Given the description of an element on the screen output the (x, y) to click on. 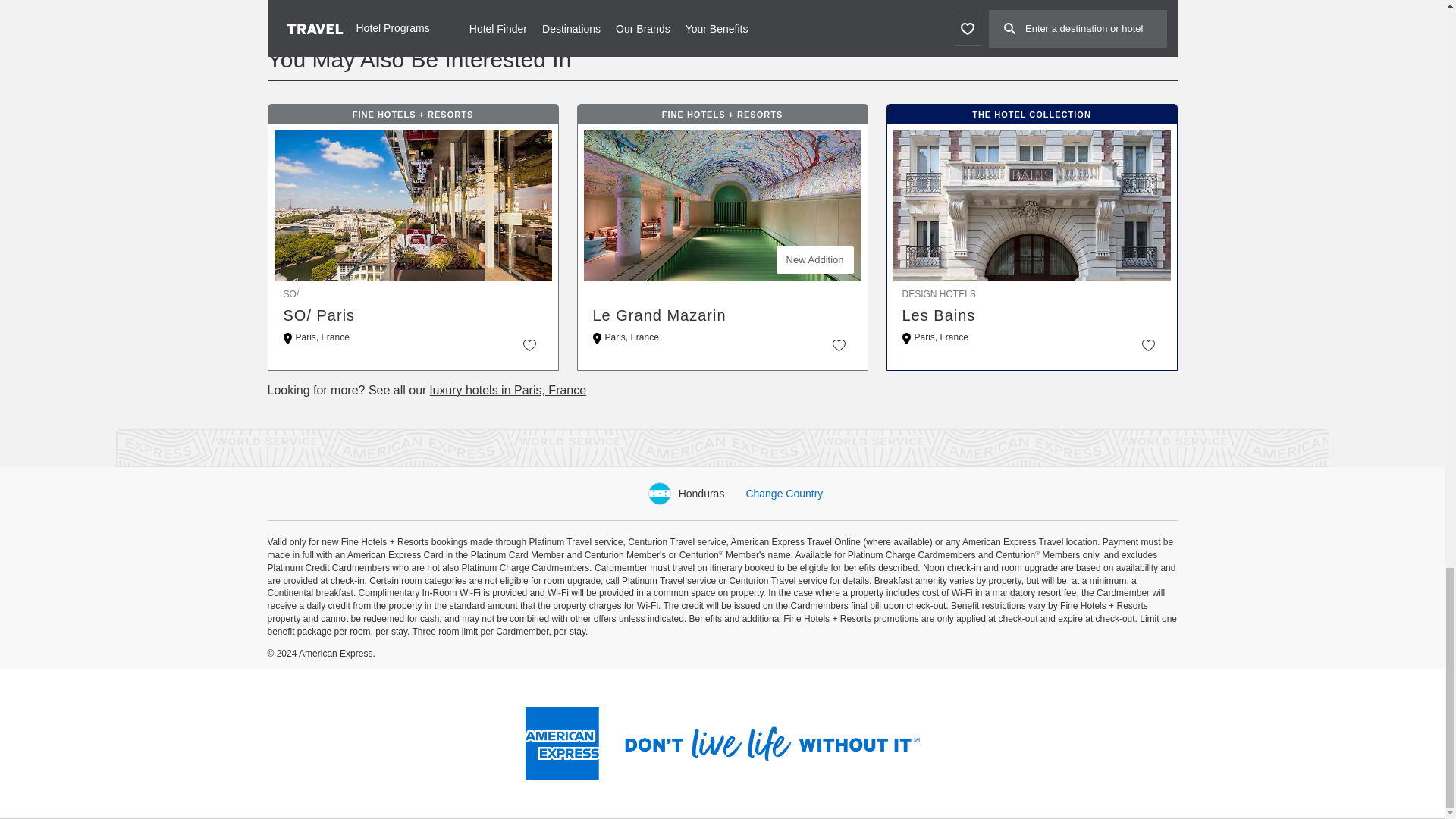
Change Country (783, 493)
luxury hotels in Paris, France (507, 390)
Les Bains (1031, 315)
Le Grand Mazarin (721, 315)
